Given the description of an element on the screen output the (x, y) to click on. 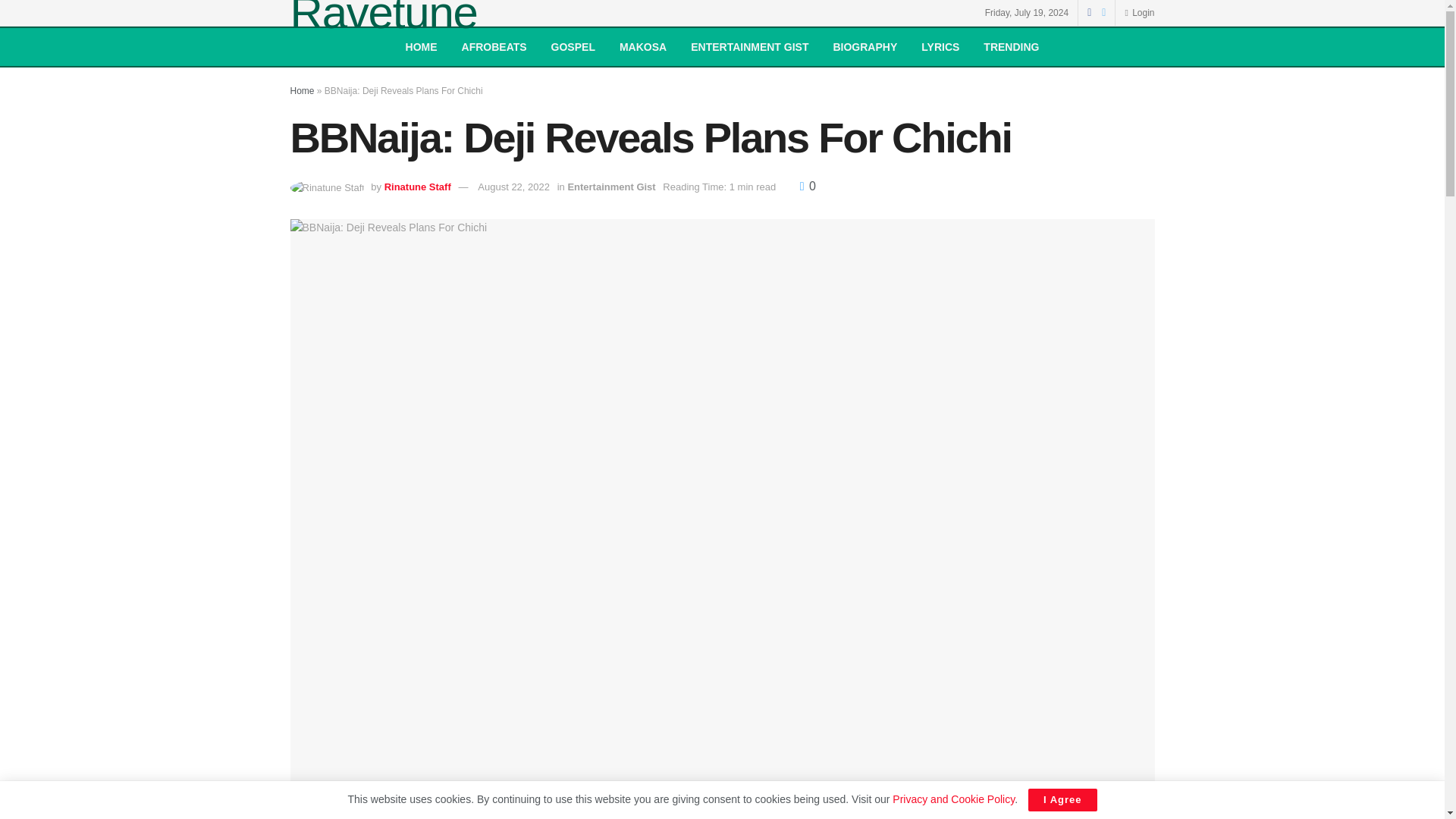
TRENDING (1011, 46)
MAKOSA (642, 46)
GOSPEL (572, 46)
Ravetune (383, 18)
AFROBEATS (493, 46)
LYRICS (939, 46)
ENTERTAINMENT GIST (749, 46)
Entertainment Gist (611, 186)
Home (301, 90)
BIOGRAPHY (864, 46)
0 (807, 185)
Login (1139, 12)
Rinatune Staff (417, 186)
HOME (421, 46)
August 22, 2022 (513, 186)
